Given the description of an element on the screen output the (x, y) to click on. 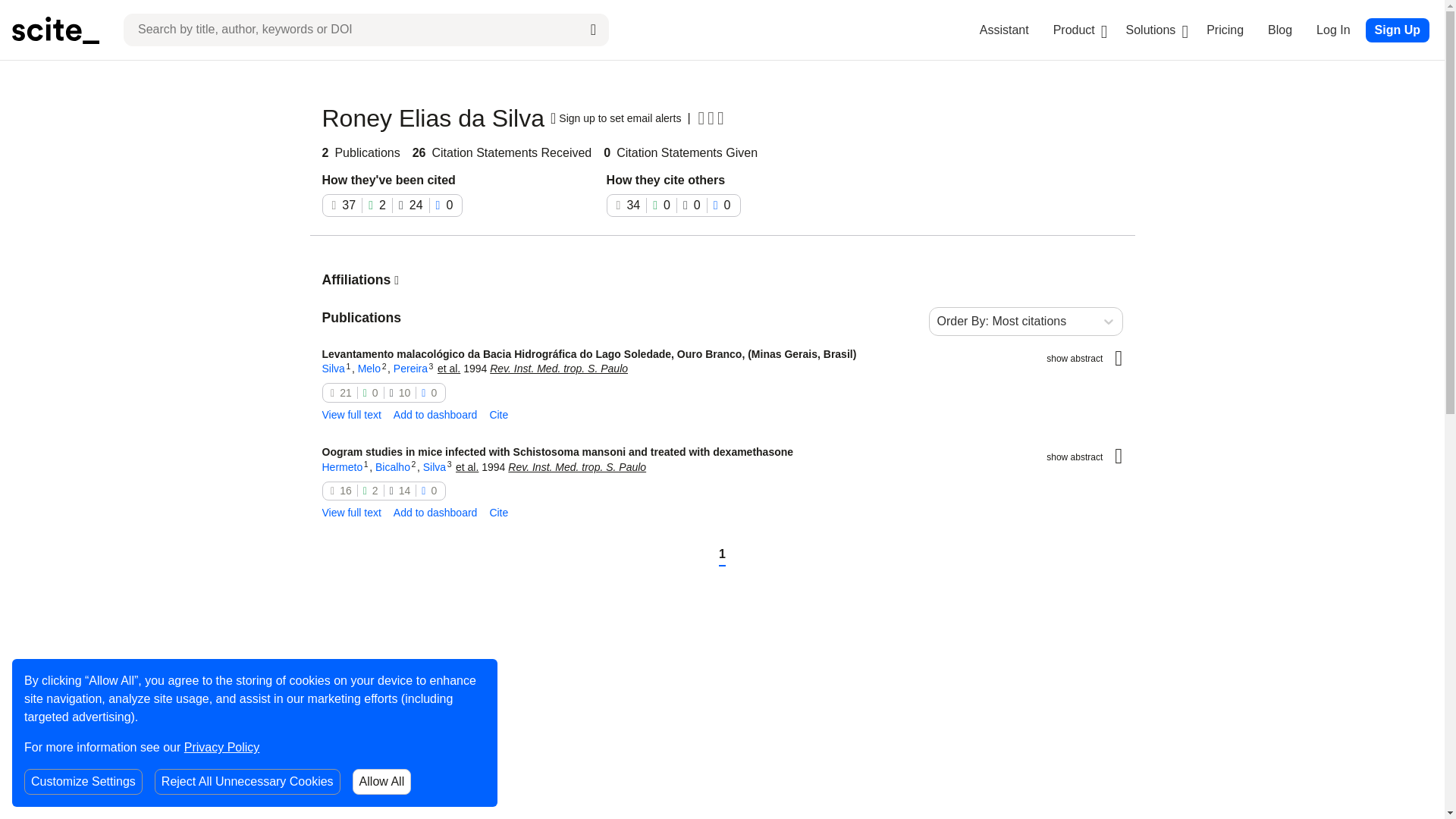
Silva (434, 467)
210100 (383, 392)
372240 (392, 205)
Silva (332, 368)
162140 (383, 490)
Solutions (1150, 29)
Add to dashboard (435, 415)
Bicalho (392, 467)
Pereira (410, 368)
View full text (350, 415)
Product (1073, 29)
Log In (1332, 29)
Pricing (1225, 29)
Melo (369, 368)
Blog (1280, 29)
